Given the description of an element on the screen output the (x, y) to click on. 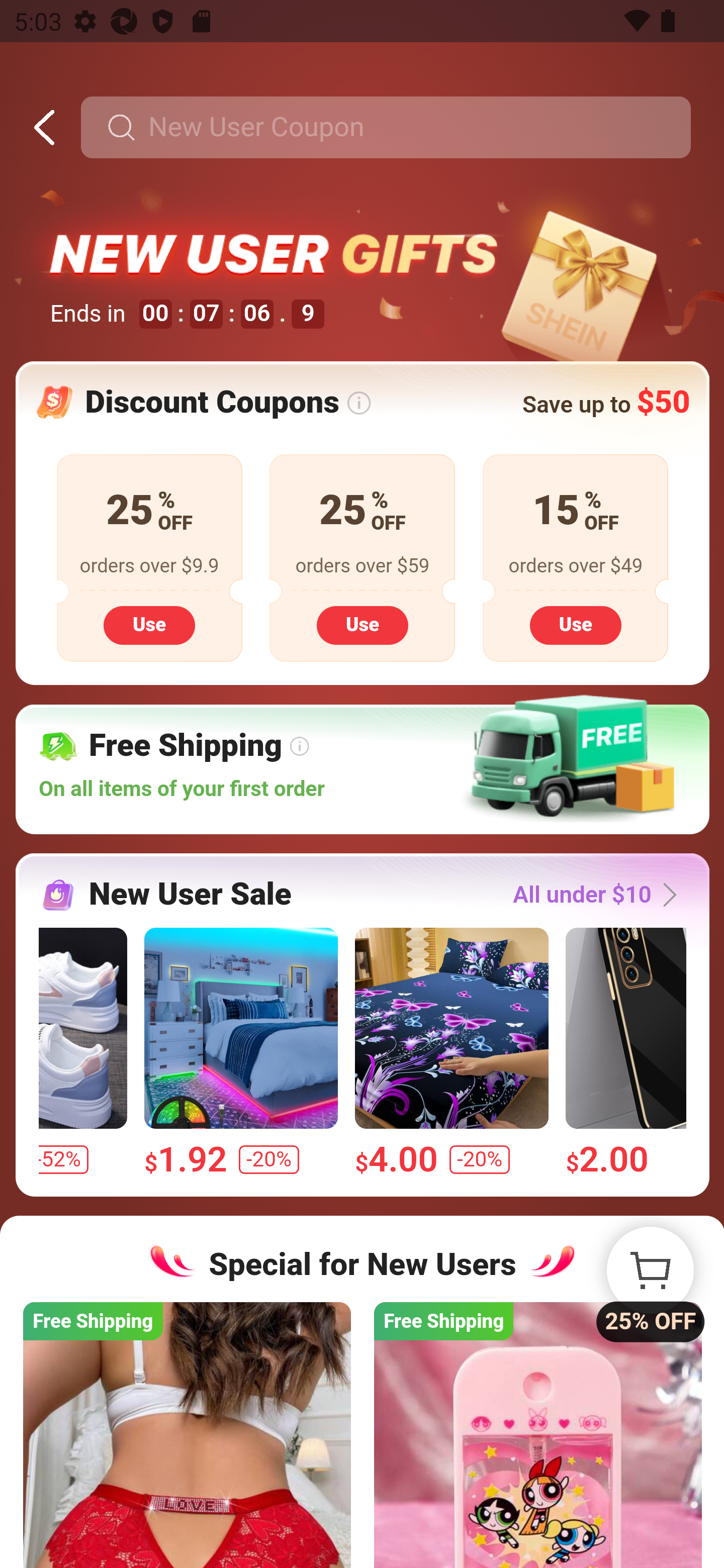
New User Coupon (384, 127)
Use (149, 624)
Use (362, 624)
Use (574, 624)
All under $10 (599, 894)
$1.92 -20% (241, 1052)
$4.00 -20% (450, 1052)
$2.00 (625, 1052)
25% OFF Enjoy 25% OFF Now ! (650, 1270)
Free Shipping (186, 1434)
Free Shipping (536, 1434)
